Given the description of an element on the screen output the (x, y) to click on. 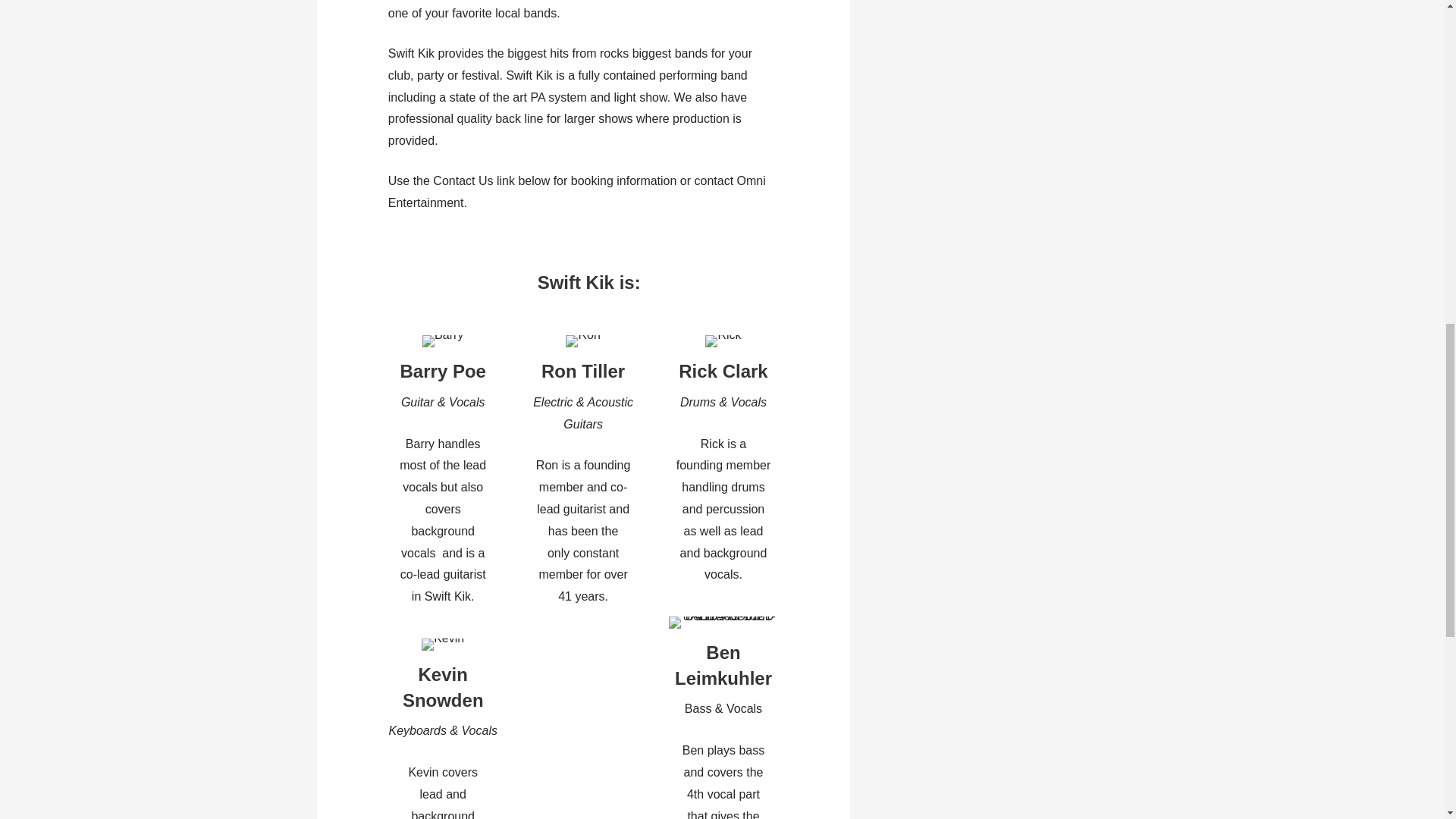
Rick (722, 340)
Barry (442, 340)
Ron (582, 340)
Kevin (443, 644)
8A21F979-18E1-41D4-BD05-B8D1E06F678D (723, 622)
